Given the description of an element on the screen output the (x, y) to click on. 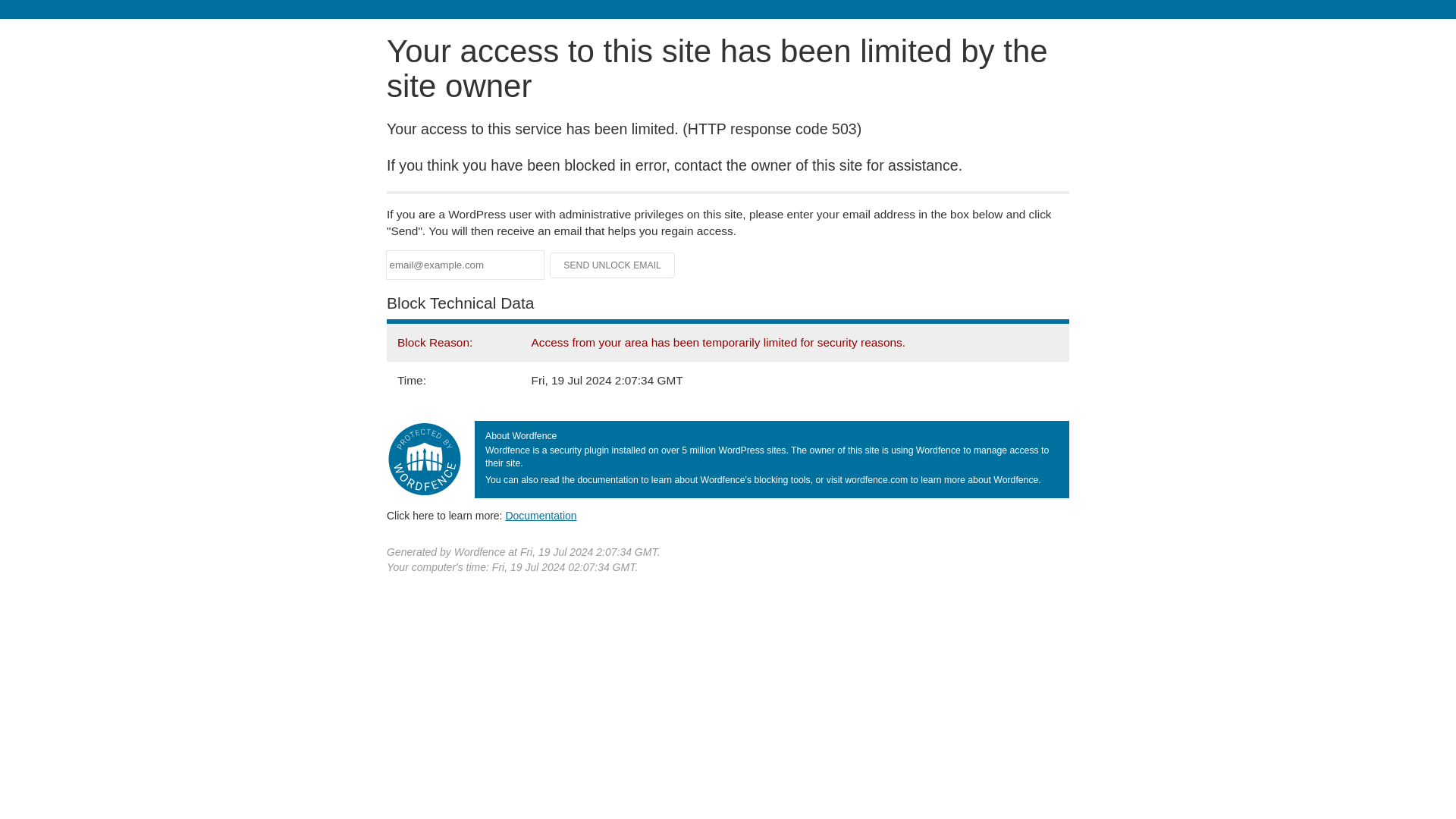
Send Unlock Email (612, 265)
Send Unlock Email (612, 265)
Documentation (540, 515)
